Given the description of an element on the screen output the (x, y) to click on. 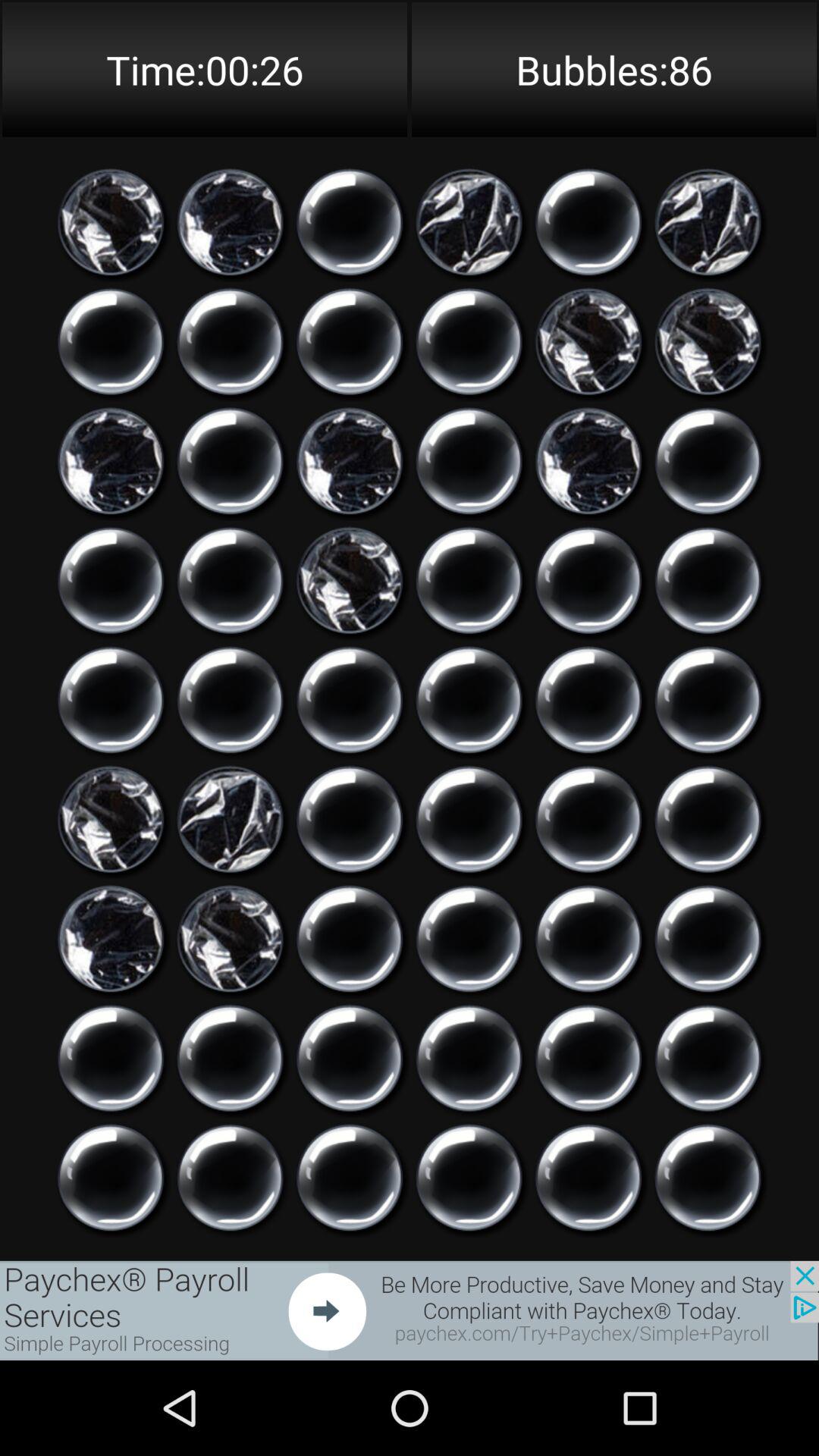
pop this bubble (707, 938)
